Given the description of an element on the screen output the (x, y) to click on. 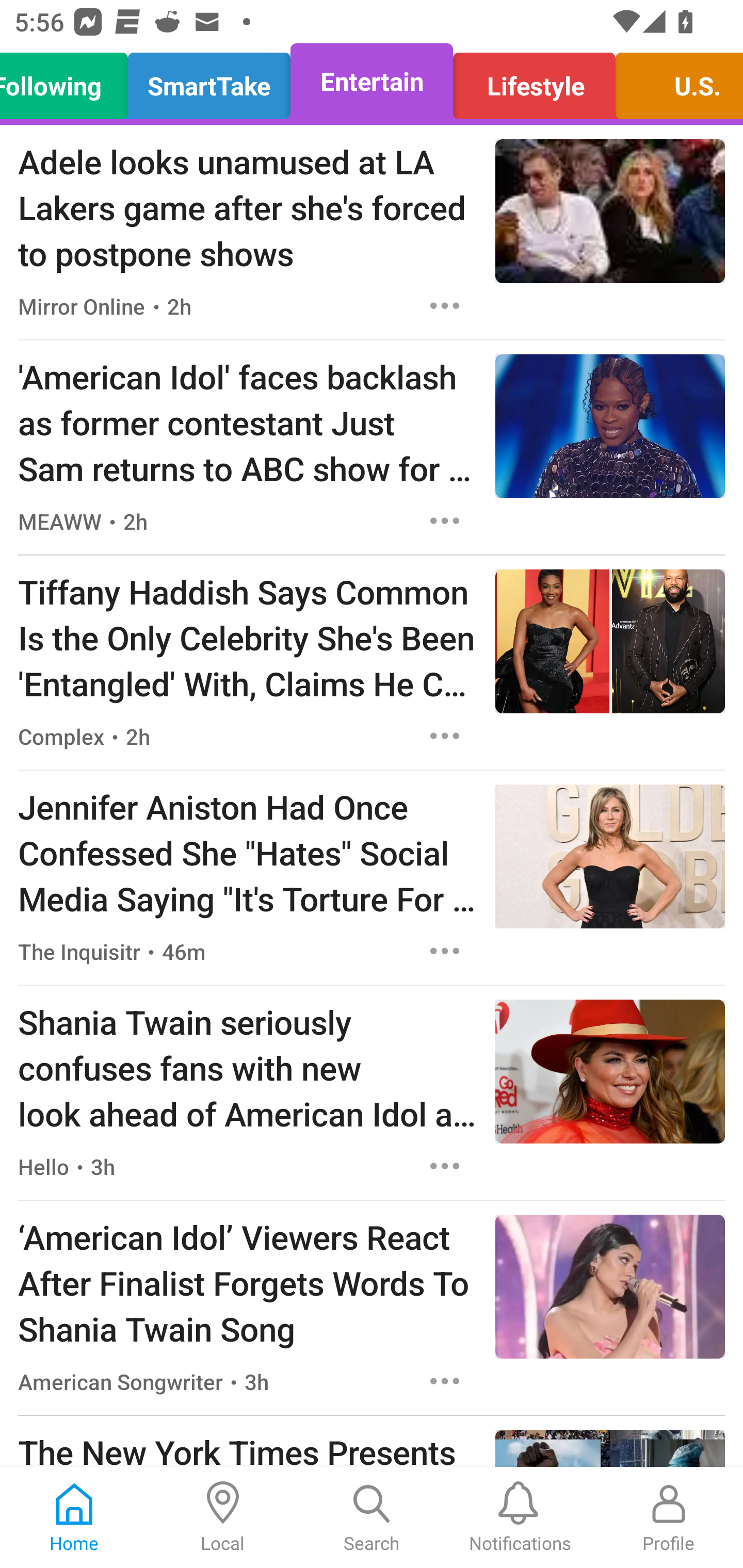
Following (69, 81)
SmartTake (209, 81)
Entertain (371, 81)
Lifestyle (534, 81)
U.S. (673, 81)
Options (444, 305)
Options (444, 520)
Options (444, 736)
Options (444, 950)
Options (444, 1166)
Options (444, 1381)
Local (222, 1517)
Search (371, 1517)
Notifications (519, 1517)
Profile (668, 1517)
